Given the description of an element on the screen output the (x, y) to click on. 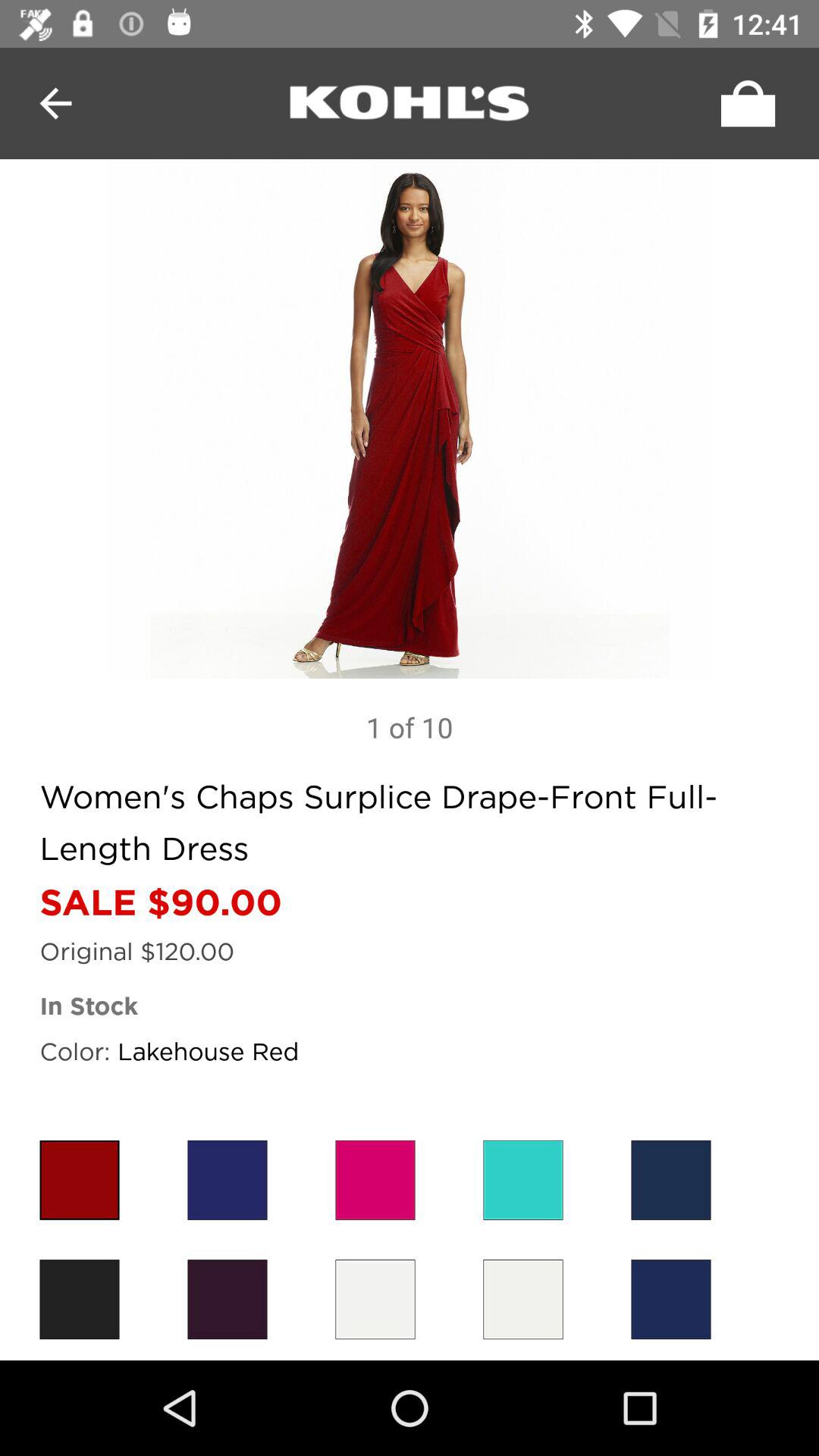
view photo 's of the dress (409, 418)
